Given the description of an element on the screen output the (x, y) to click on. 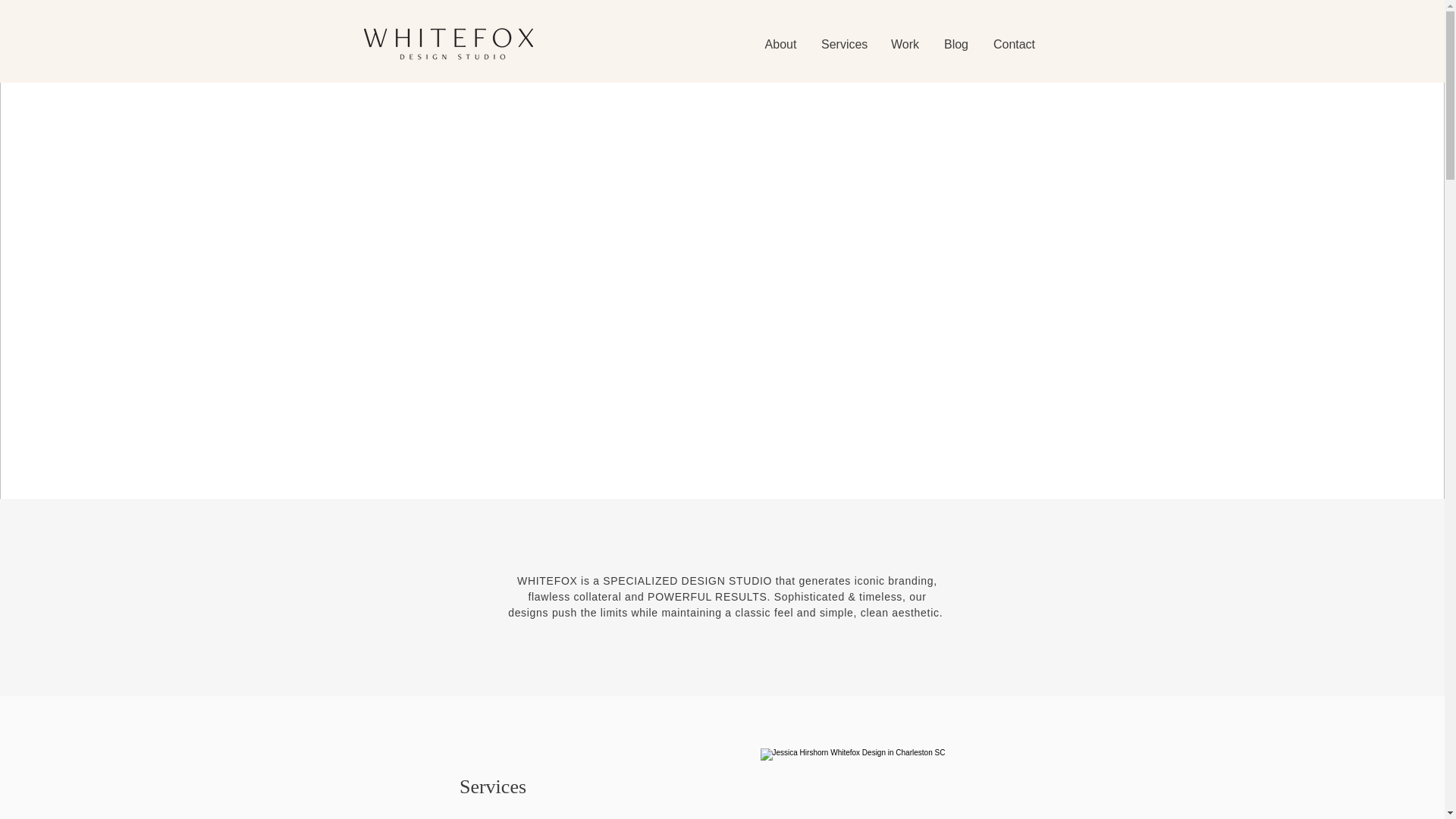
Contact (1013, 44)
Services (843, 44)
Blog (955, 44)
About (780, 44)
